Given the description of an element on the screen output the (x, y) to click on. 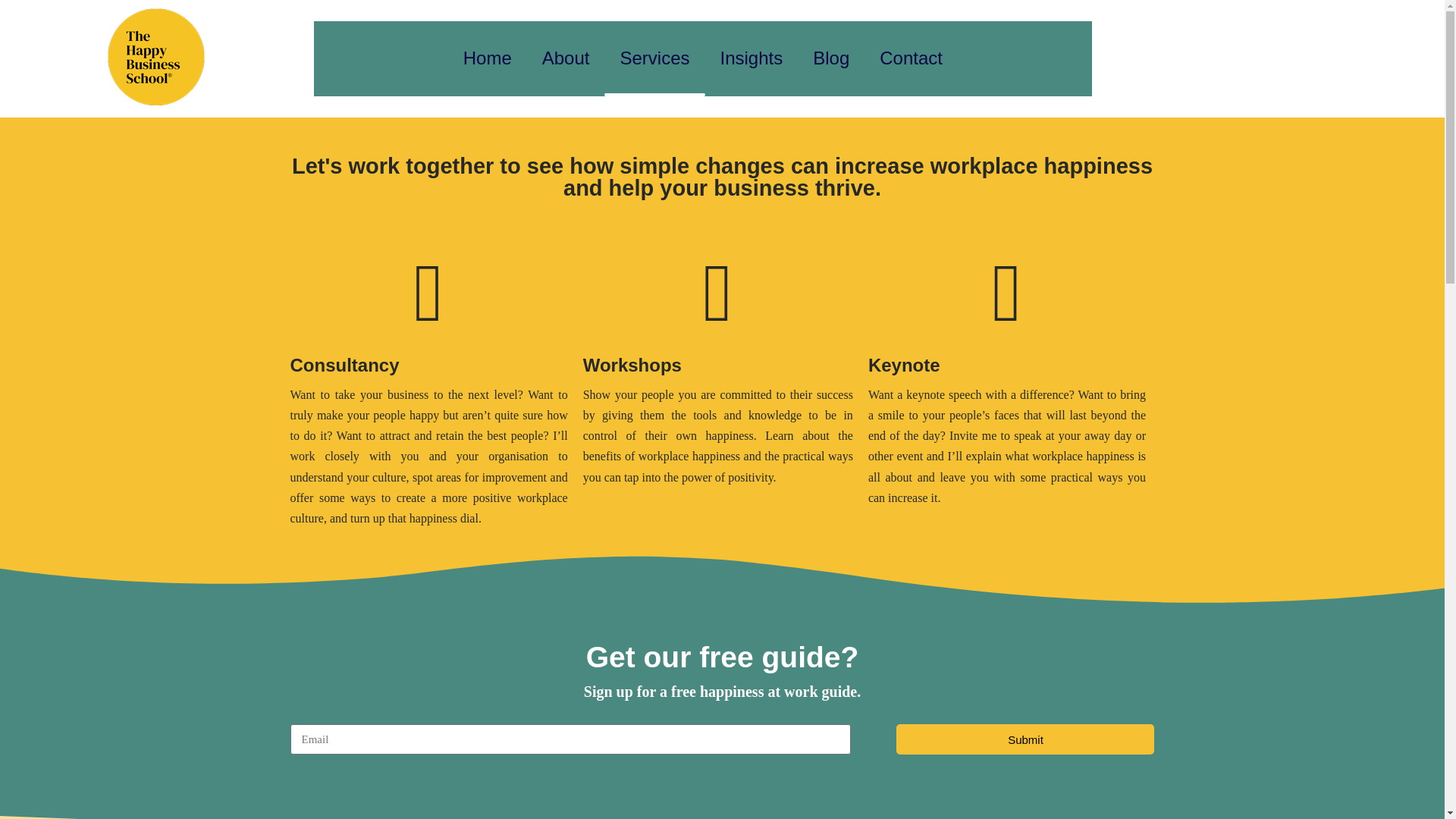
Consultancy (343, 364)
About (566, 58)
Insights (750, 58)
Home (487, 58)
Services (654, 58)
Blog (830, 58)
Keynote (903, 364)
Workshops (632, 364)
Contact (911, 58)
Submit (1025, 738)
